Given the description of an element on the screen output the (x, y) to click on. 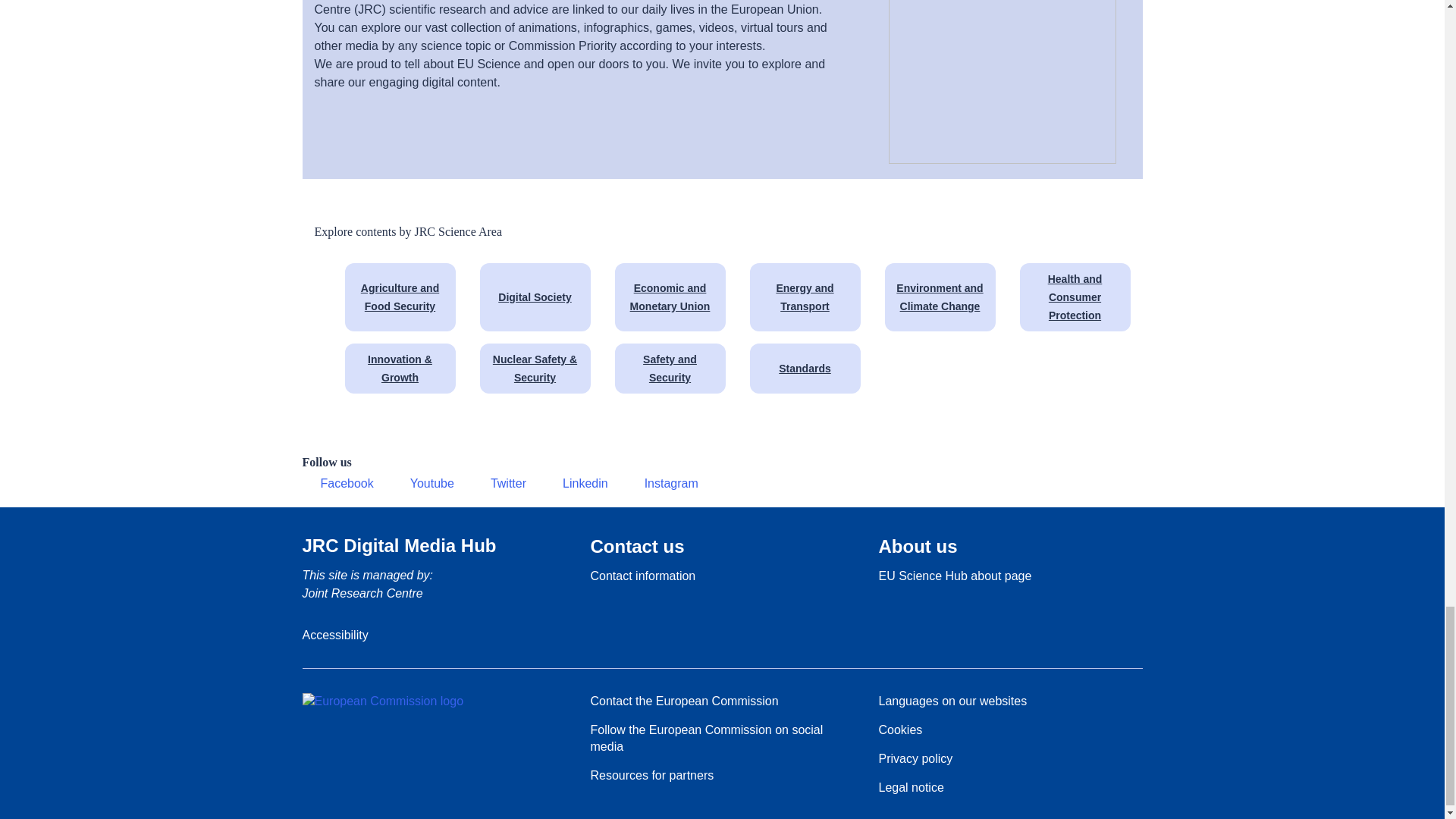
European Commission (382, 700)
